Given the description of an element on the screen output the (x, y) to click on. 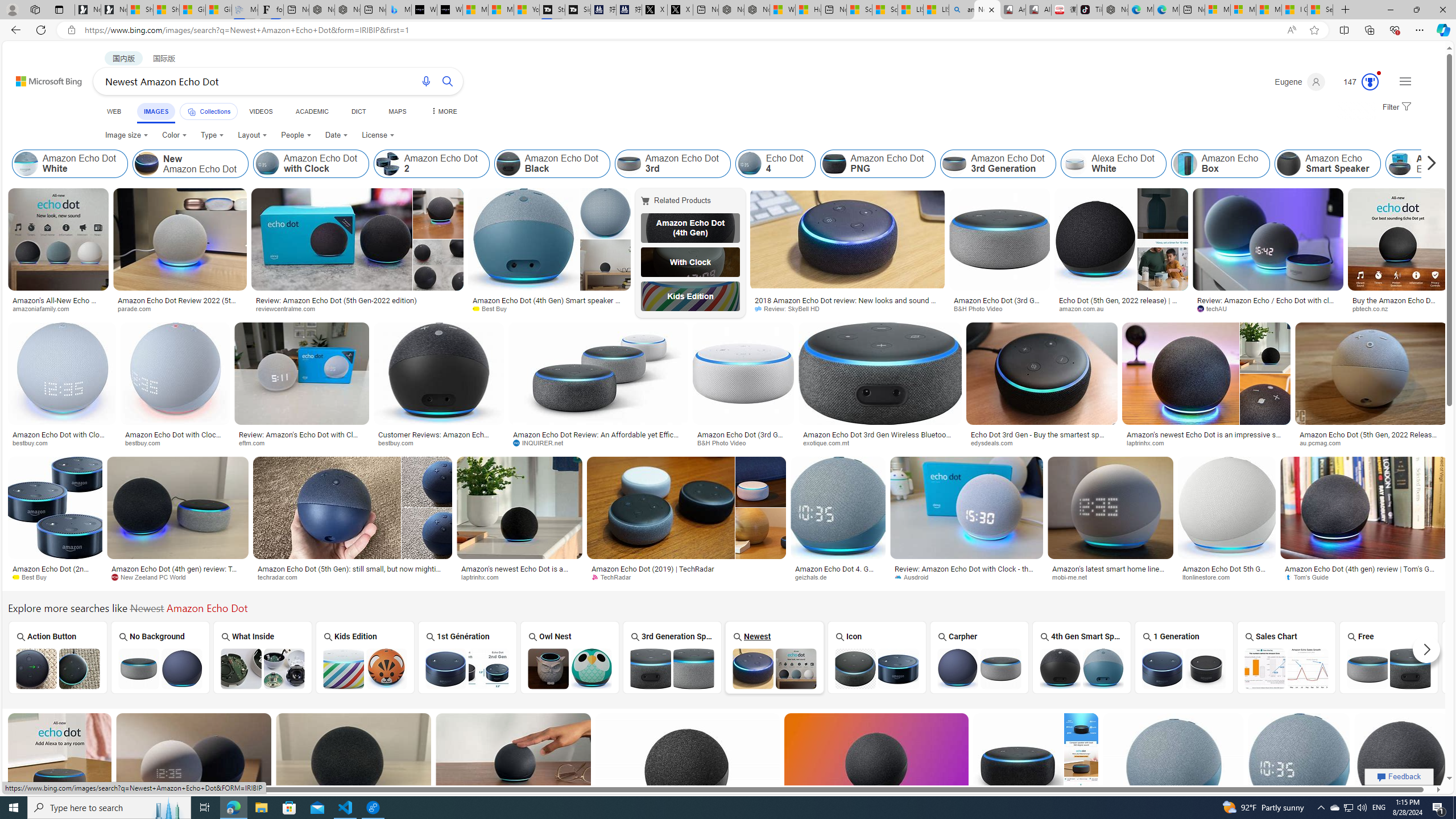
Amazon Echo Dot 3rd Generation Speaker (671, 668)
Image size (127, 135)
Amazon Echo Smart Speaker (1327, 163)
New Zeeland PC World (178, 576)
